Given the description of an element on the screen output the (x, y) to click on. 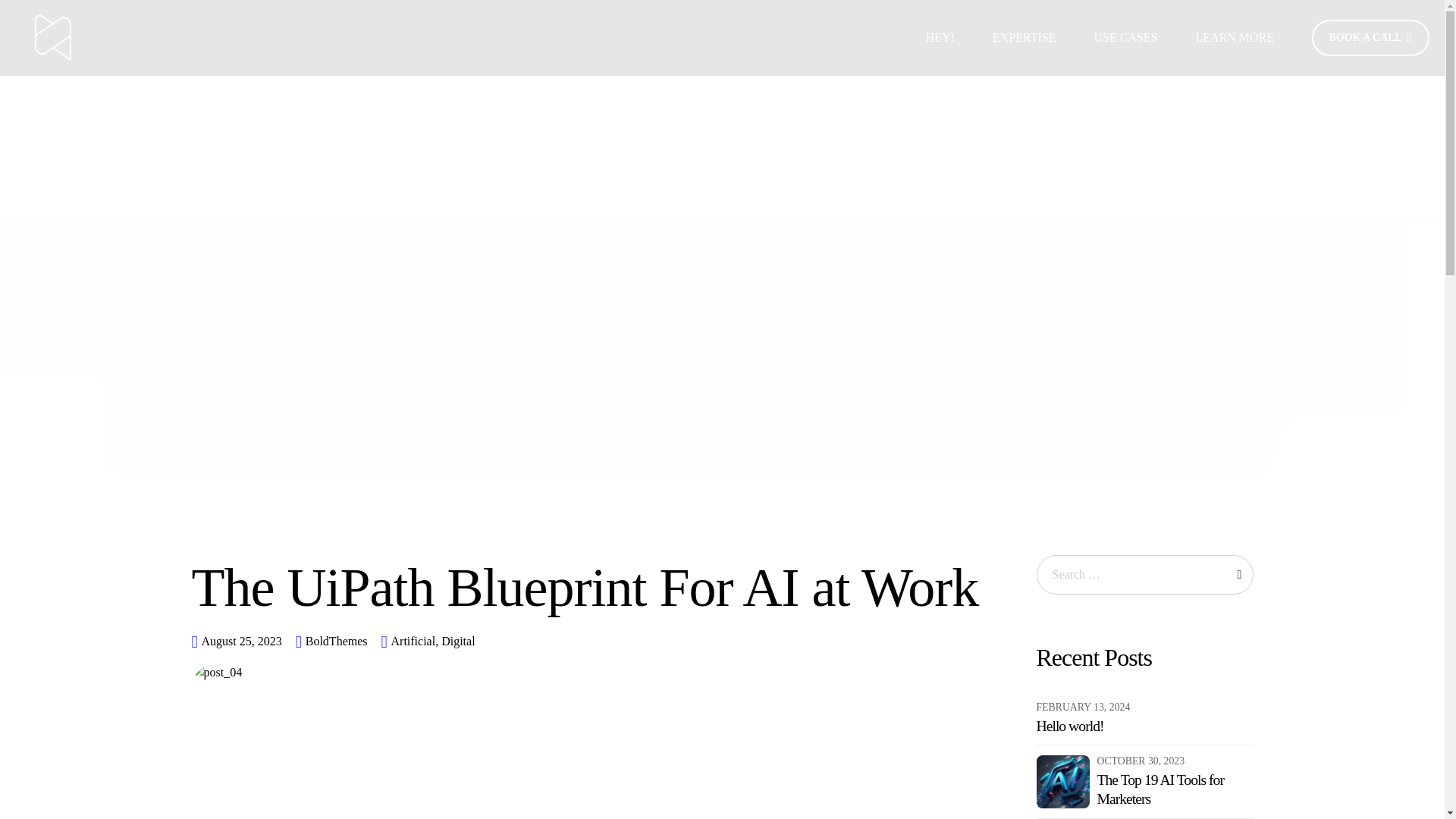
The UiPath Blueprint For AI at Work (584, 587)
BoldThemes (336, 640)
Artificial (413, 641)
Digital (456, 641)
LEARN MORE (1235, 37)
BOOK A CALL (1370, 37)
